Given the description of an element on the screen output the (x, y) to click on. 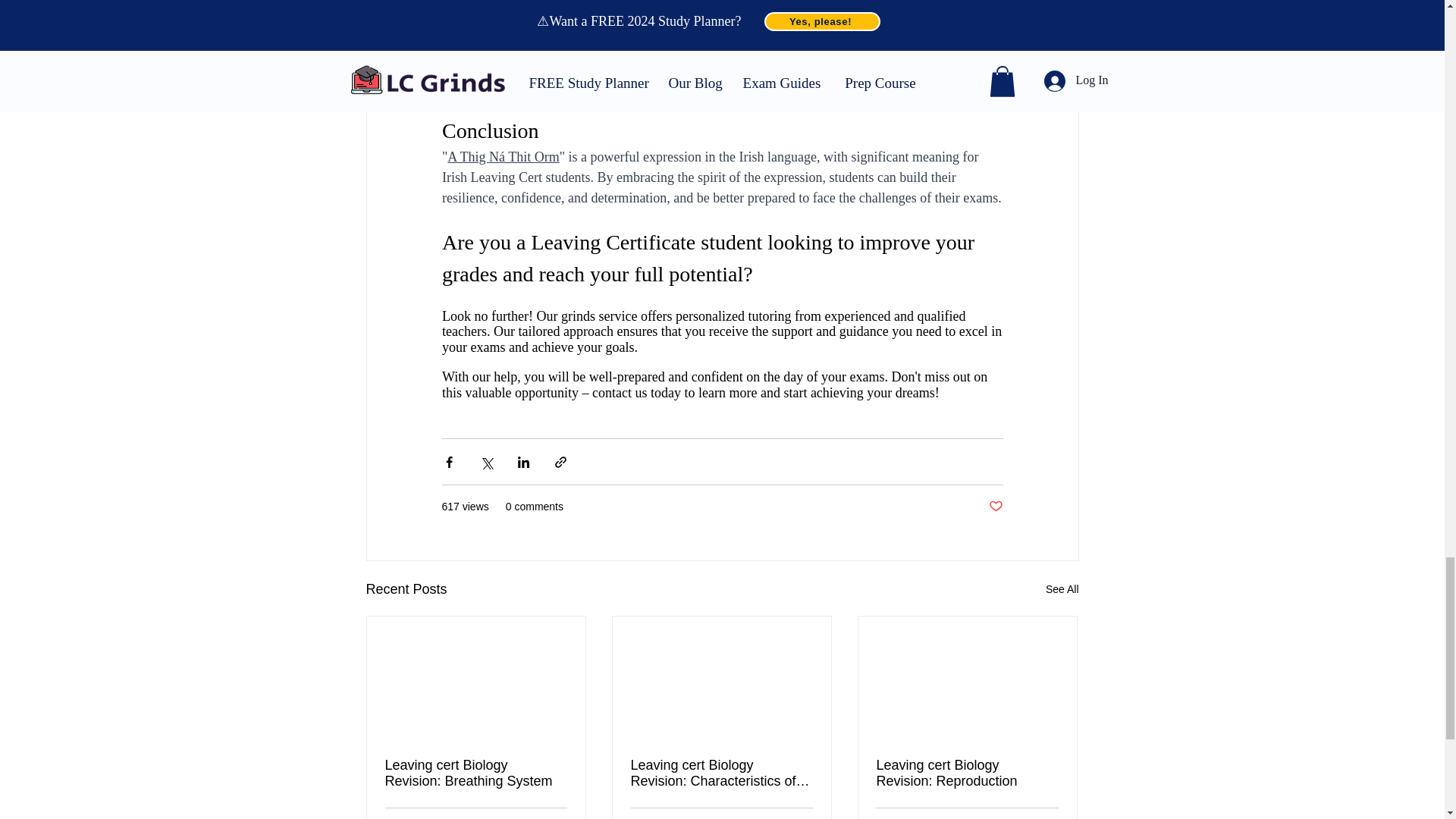
Leaving cert Biology Revision: Breathing System (476, 773)
Post not marked as liked (995, 506)
Leaving cert Biology Revision: Characteristics of Life (721, 773)
See All (1061, 589)
